Given the description of an element on the screen output the (x, y) to click on. 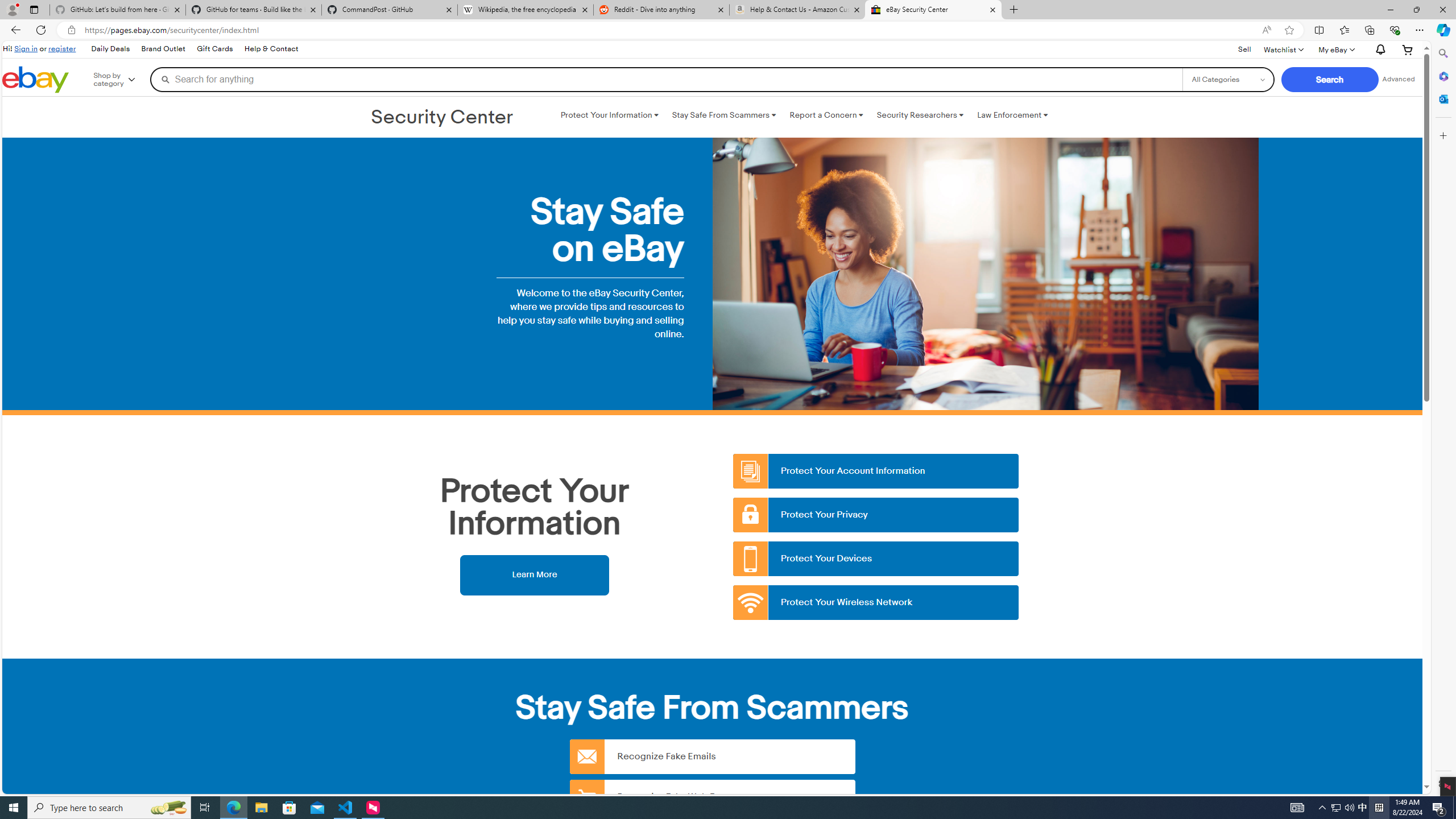
Stay Safe From Scammers  (723, 115)
Search for anything (665, 78)
eBay Home (35, 79)
AutomationID: gh-eb-Alerts (1378, 49)
Protect Your Information  (608, 115)
Learn More (534, 574)
Expand Cart (1407, 49)
Protect Your Privacy (876, 514)
Gift Cards (214, 49)
